Given the description of an element on the screen output the (x, y) to click on. 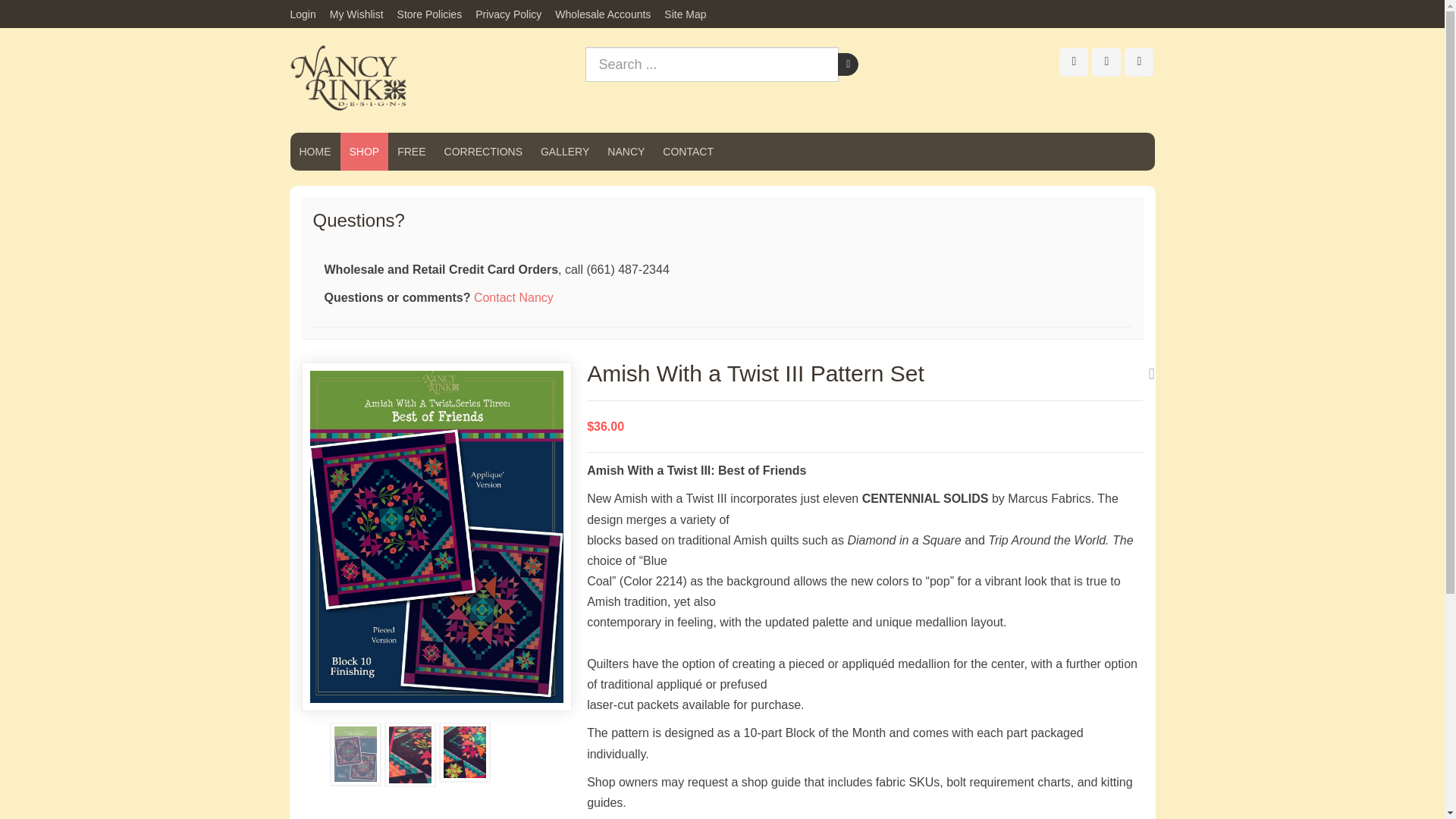
My Wishlist (357, 14)
Login (306, 14)
Search (848, 64)
